Given the description of an element on the screen output the (x, y) to click on. 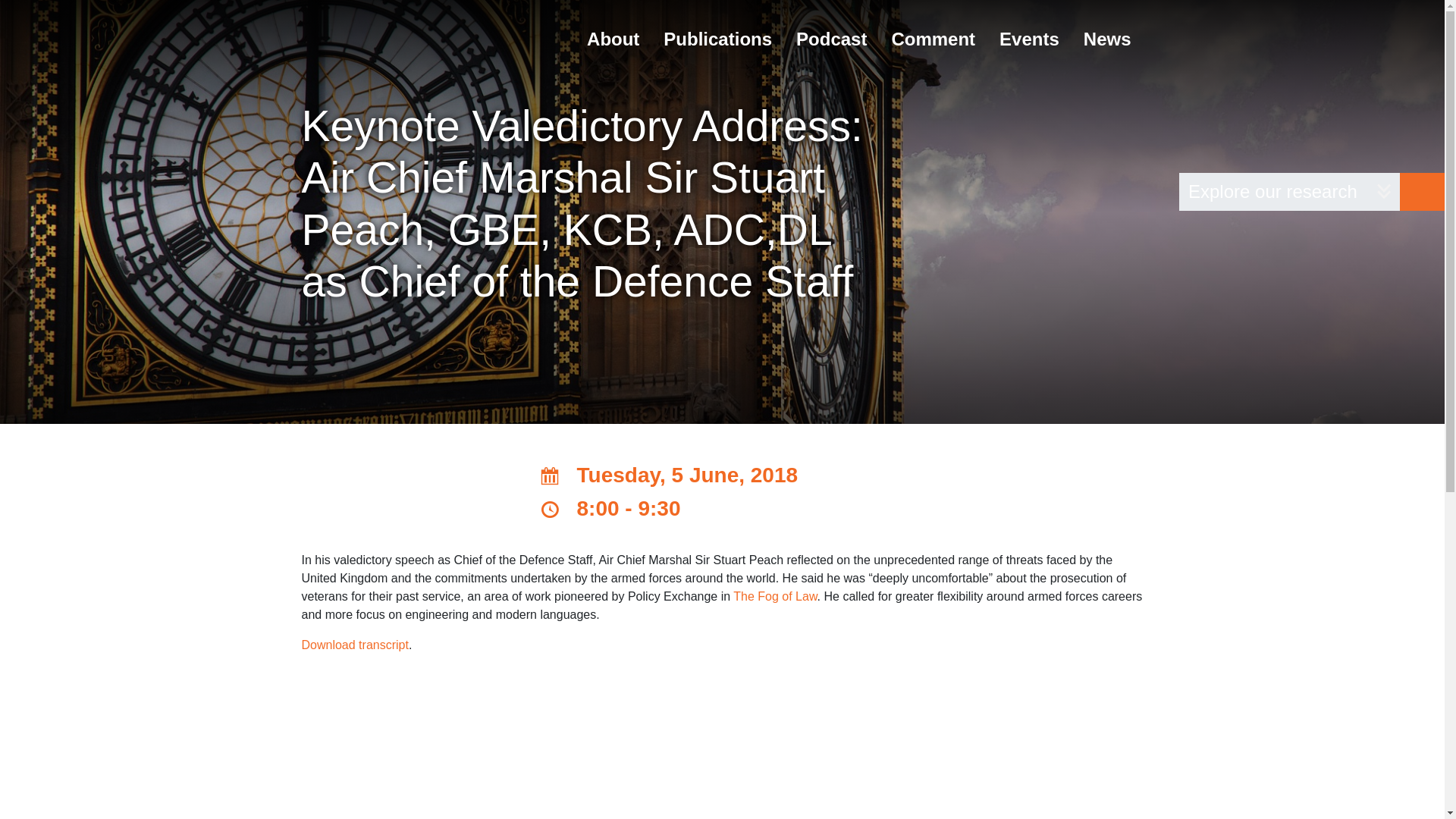
About (612, 38)
Podcast (831, 38)
Publications (717, 38)
Events (1028, 38)
News (1107, 38)
Comment (933, 38)
